Given the description of an element on the screen output the (x, y) to click on. 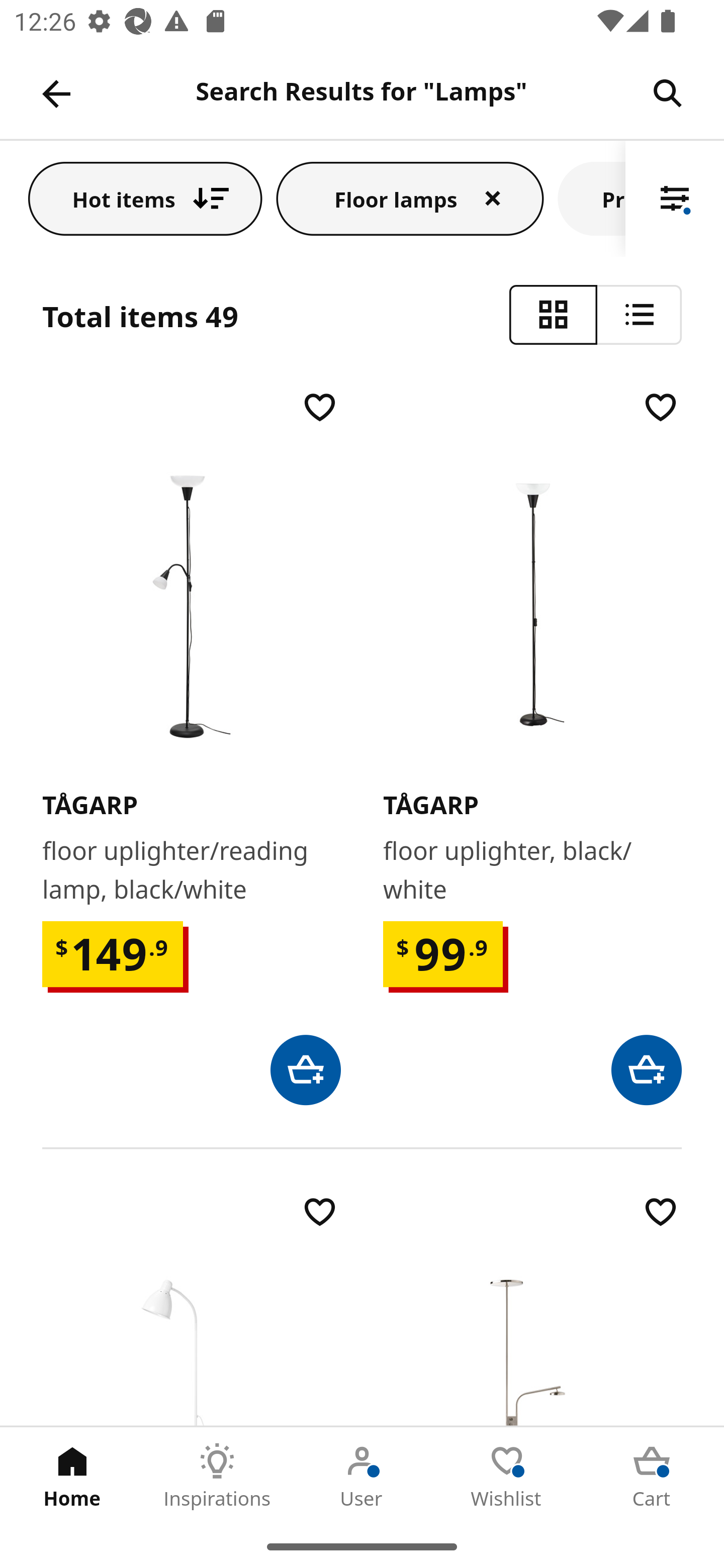
Hot items (145, 198)
Floor lamps (409, 198)
​T​Å​G​A​R​P​
floor uplighter, black/white
$
99
.9 (532, 746)
​L​E​R​S​T​A​
floor/reading lamp, white
$
149
.9 (191, 1308)
Home
Tab 1 of 5 (72, 1476)
Inspirations
Tab 2 of 5 (216, 1476)
User
Tab 3 of 5 (361, 1476)
Wishlist
Tab 4 of 5 (506, 1476)
Cart
Tab 5 of 5 (651, 1476)
